Given the description of an element on the screen output the (x, y) to click on. 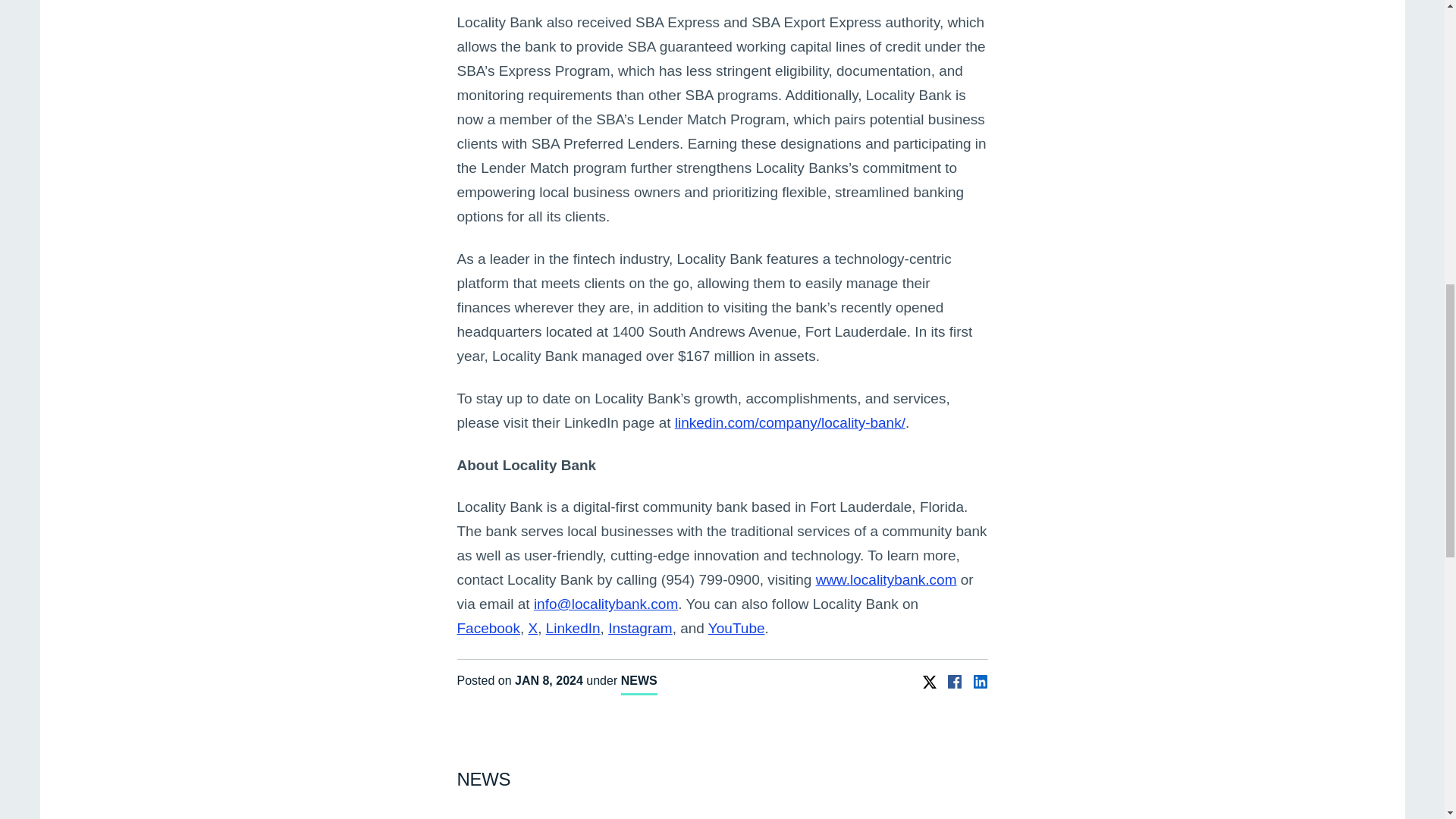
LinkedIn (572, 627)
Instagram (639, 627)
Locality Bank's LinkedIn (572, 627)
Email Locality Bank (606, 603)
YouTube (736, 627)
NEWS (639, 683)
Locality Bank's Facebook (488, 627)
Facebook (488, 627)
Locality Bank's LinkedIn (790, 422)
Locality Bank website (885, 579)
www.localitybank.com (885, 579)
